Given the description of an element on the screen output the (x, y) to click on. 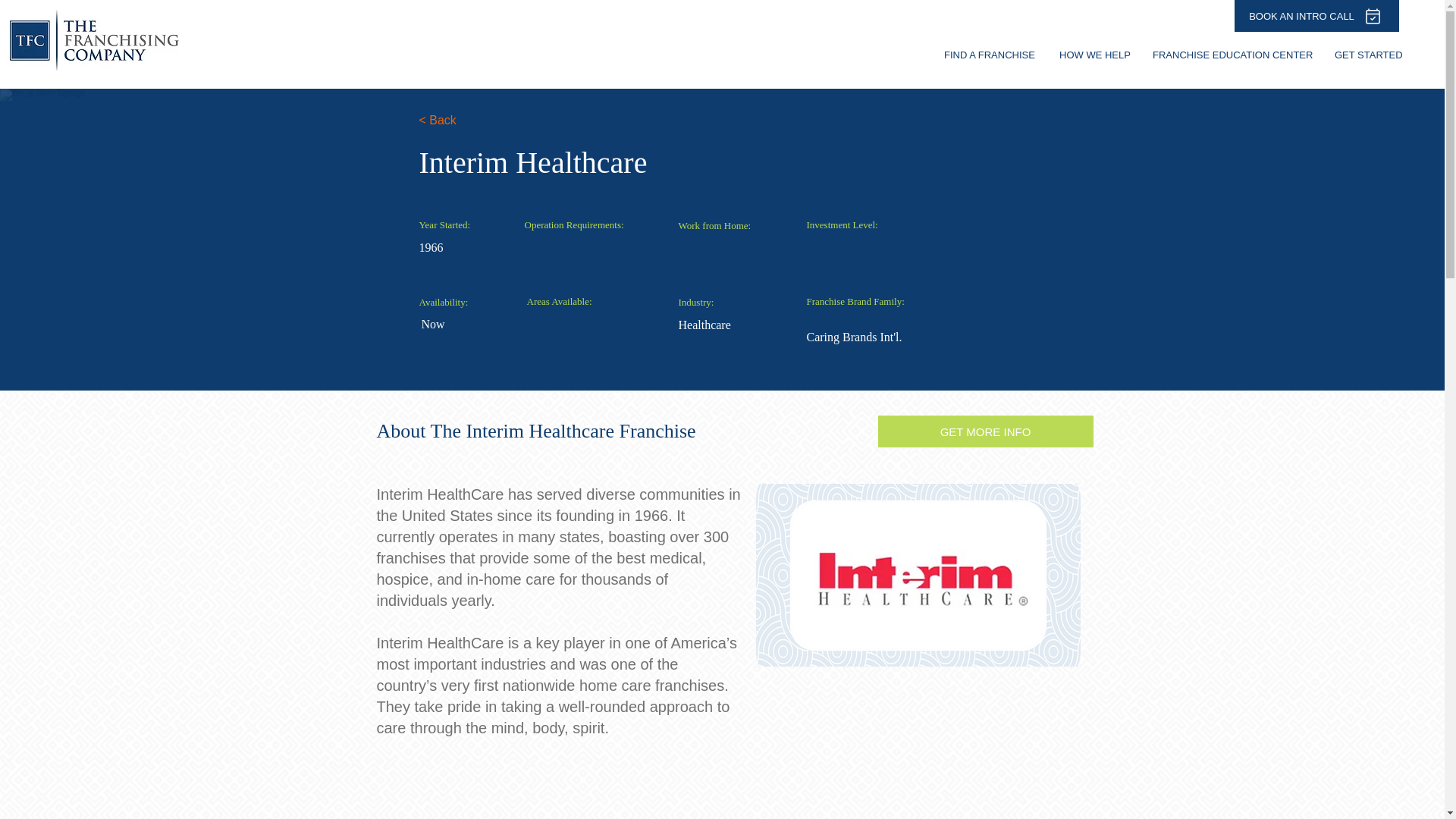
Interim Healthcare Franchise.png (917, 575)
HOW WE HELP (1094, 55)
BOOK AN INTRO CALL (1316, 15)
GET STARTED (1368, 55)
FIND A FRANCHISE (990, 55)
GET MORE INFO (985, 431)
FRANCHISE EDUCATION CENTER (1232, 55)
